Given the description of an element on the screen output the (x, y) to click on. 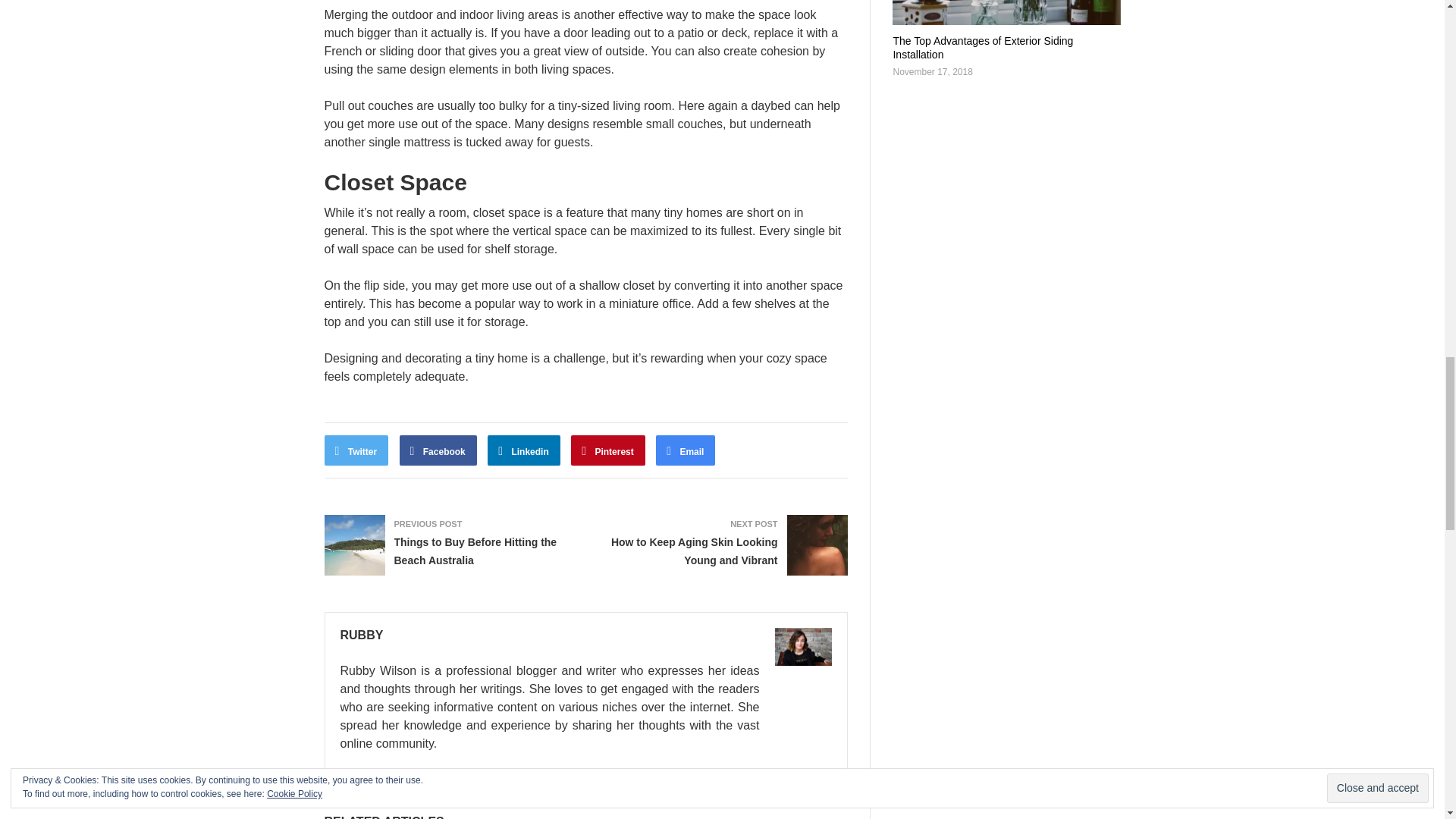
Linkedin (523, 450)
Pinterest (607, 450)
Twitter (356, 450)
Facebook (437, 450)
Email (685, 450)
How to Keep Aging Skin Looking Young and Vibrant (694, 551)
RUBBY (360, 634)
Things to Buy Before Hitting the Beach Australia (475, 551)
